Given the description of an element on the screen output the (x, y) to click on. 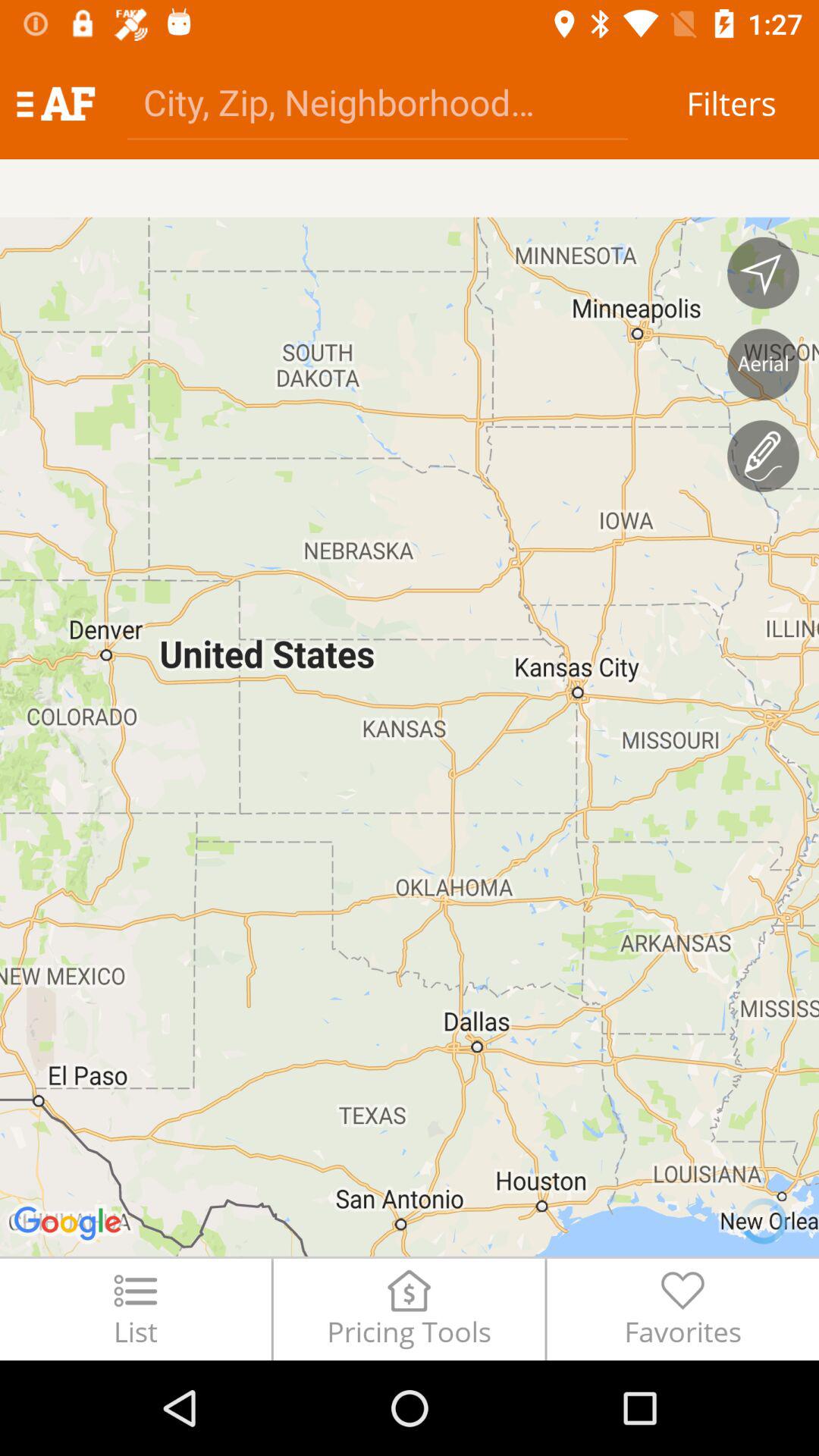
launch the icon to the left of pricing tools (135, 1309)
